Given the description of an element on the screen output the (x, y) to click on. 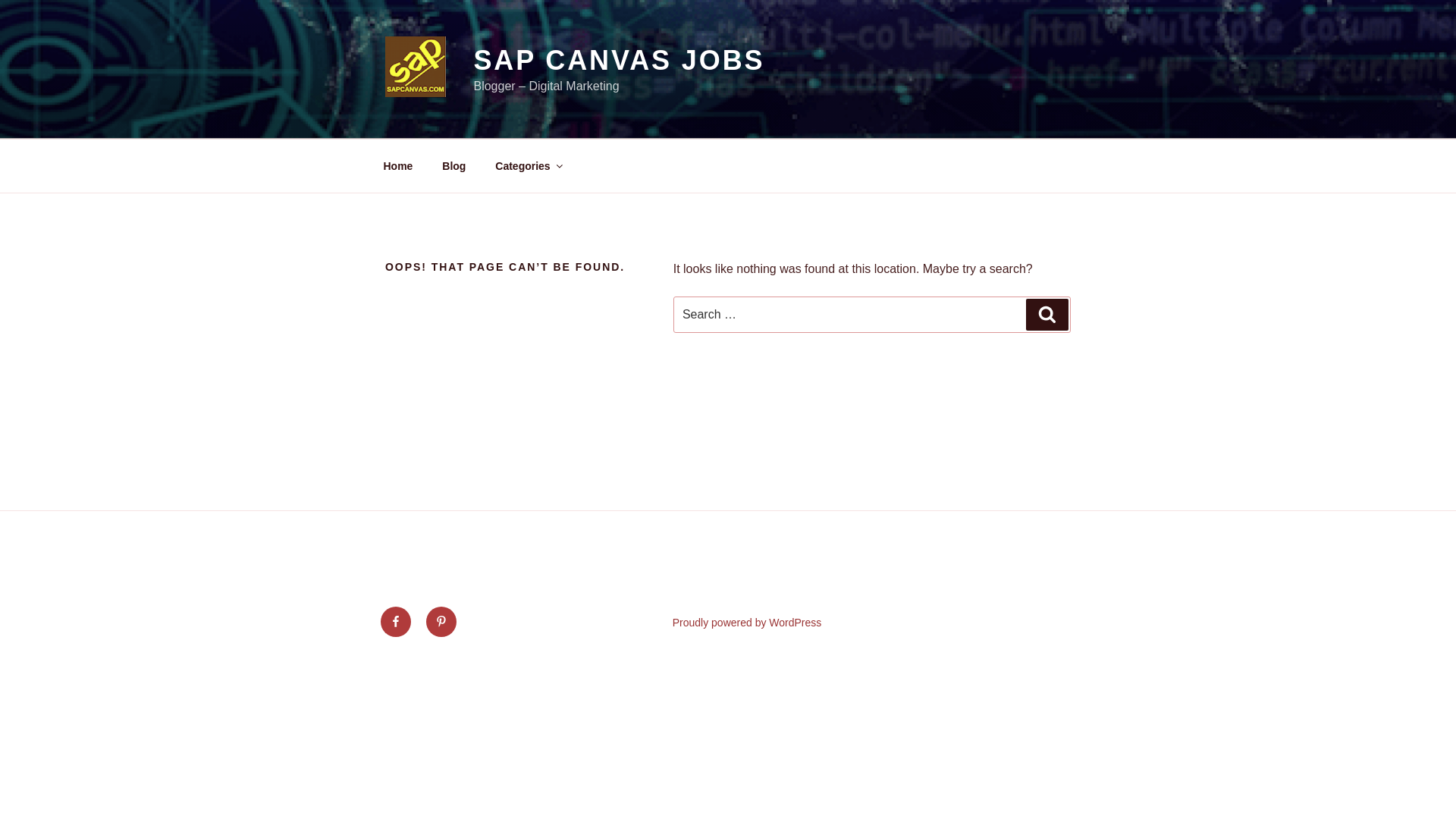
SAP CANVAS JOBS (618, 60)
Blog (454, 165)
Categories (527, 165)
Facebook (395, 621)
Proudly powered by WordPress (747, 622)
Home (397, 165)
Search (1047, 314)
Pinterest (441, 621)
